Given the description of an element on the screen output the (x, y) to click on. 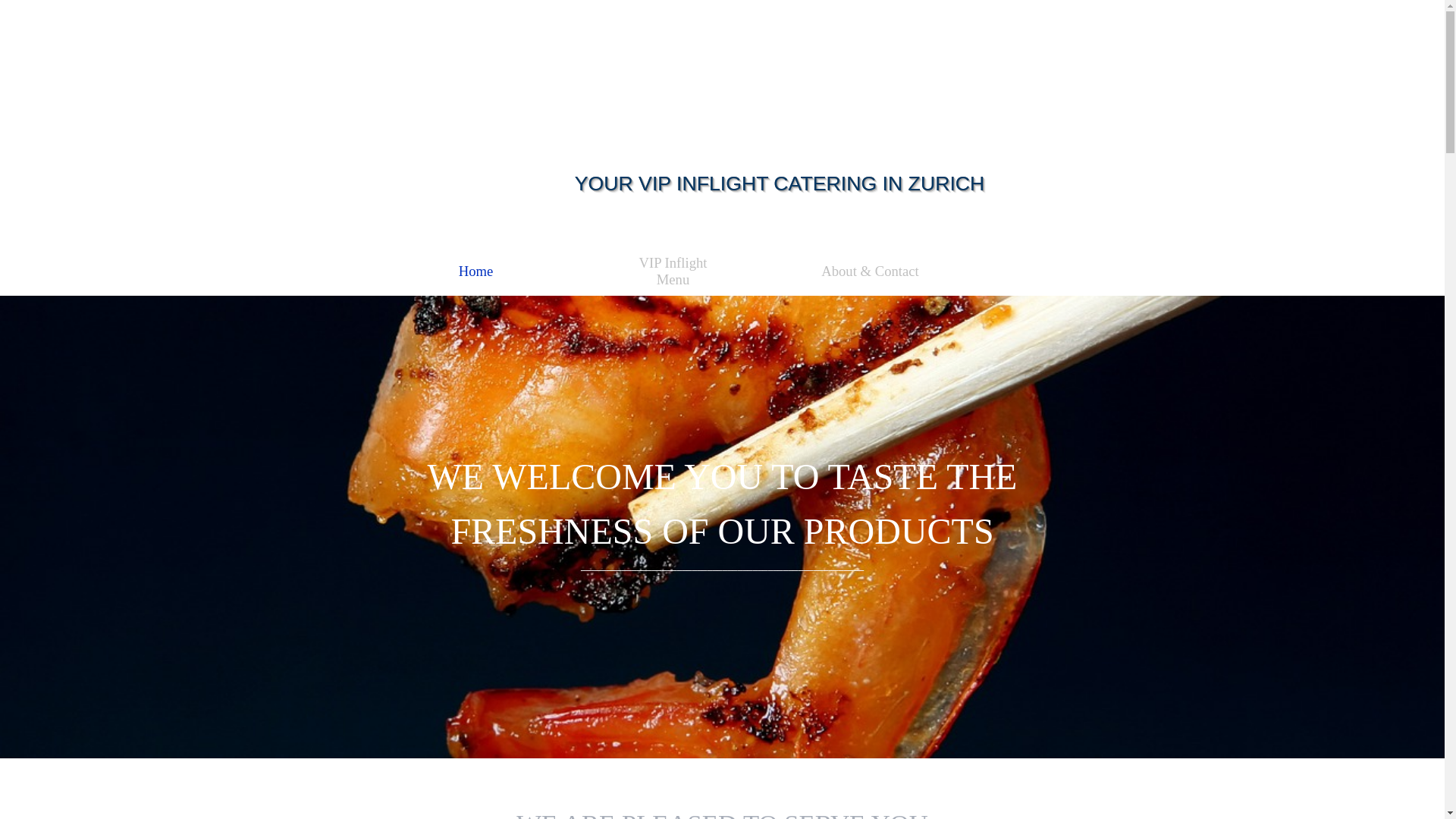
VIP Inflight Menu Element type: text (672, 270)
Home Element type: text (475, 270)
About & Contact Element type: text (869, 270)
